Given the description of an element on the screen output the (x, y) to click on. 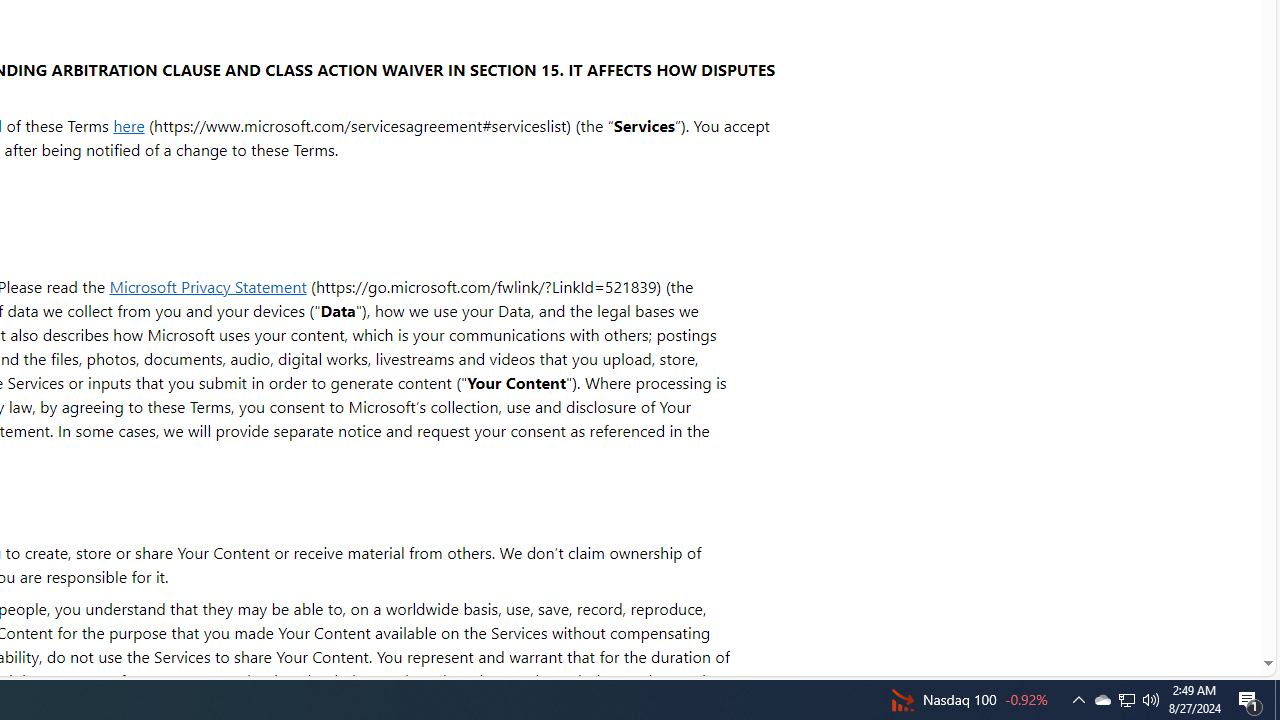
Microsoft Privacy Statement (207, 285)
here (128, 124)
